Given the description of an element on the screen output the (x, y) to click on. 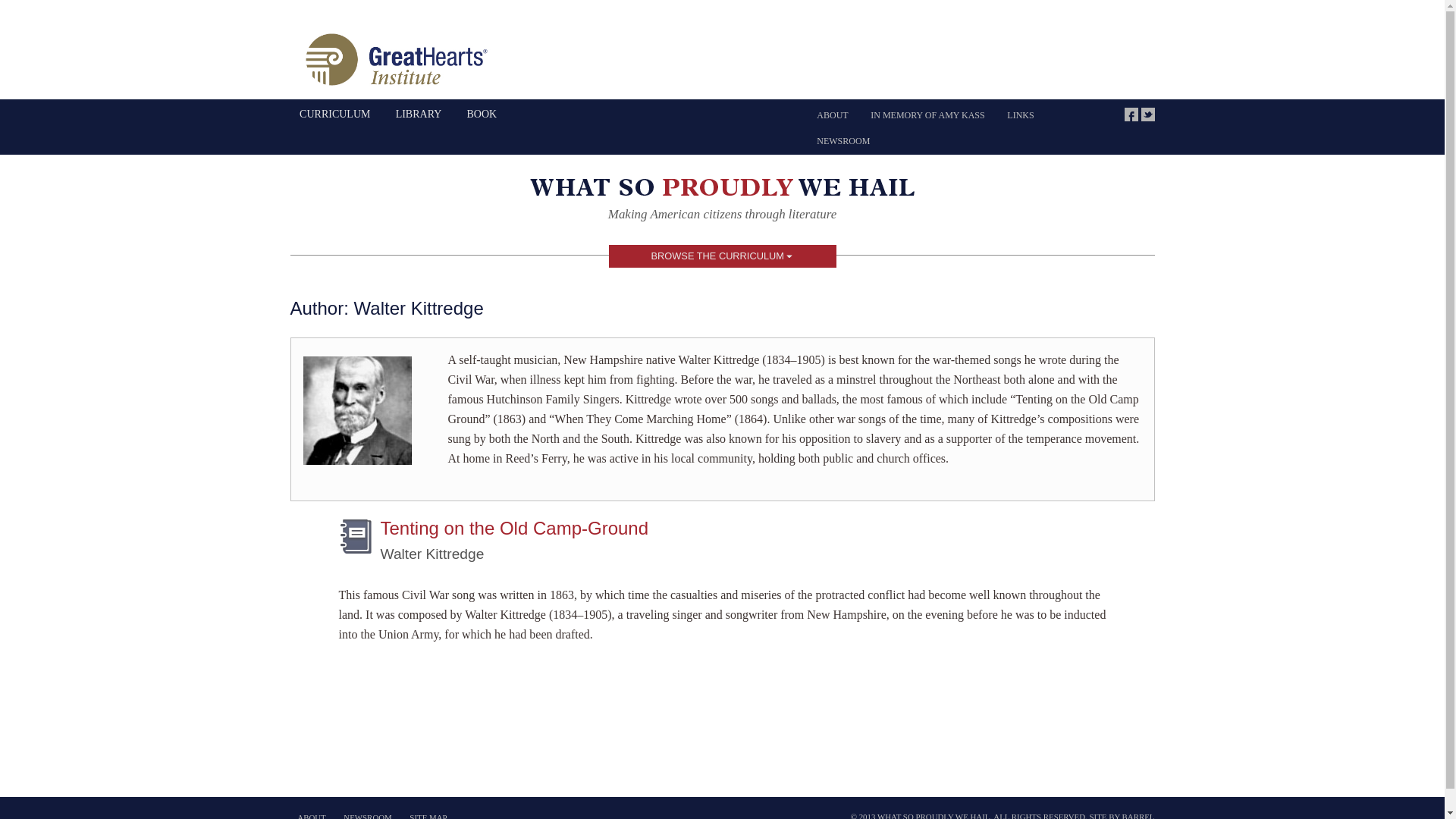
LIBRARY (418, 114)
TWITTER (1147, 114)
ABOUT (832, 115)
IN MEMORY OF AMY KASS (926, 115)
LINKS (1020, 115)
NEWSROOM (842, 141)
FACEBOOK (1131, 114)
BOOK (481, 114)
What So Proudly We Hail (721, 191)
BROWSE THE CURRICULUM (721, 255)
CURRICULUM (334, 114)
